Given the description of an element on the screen output the (x, y) to click on. 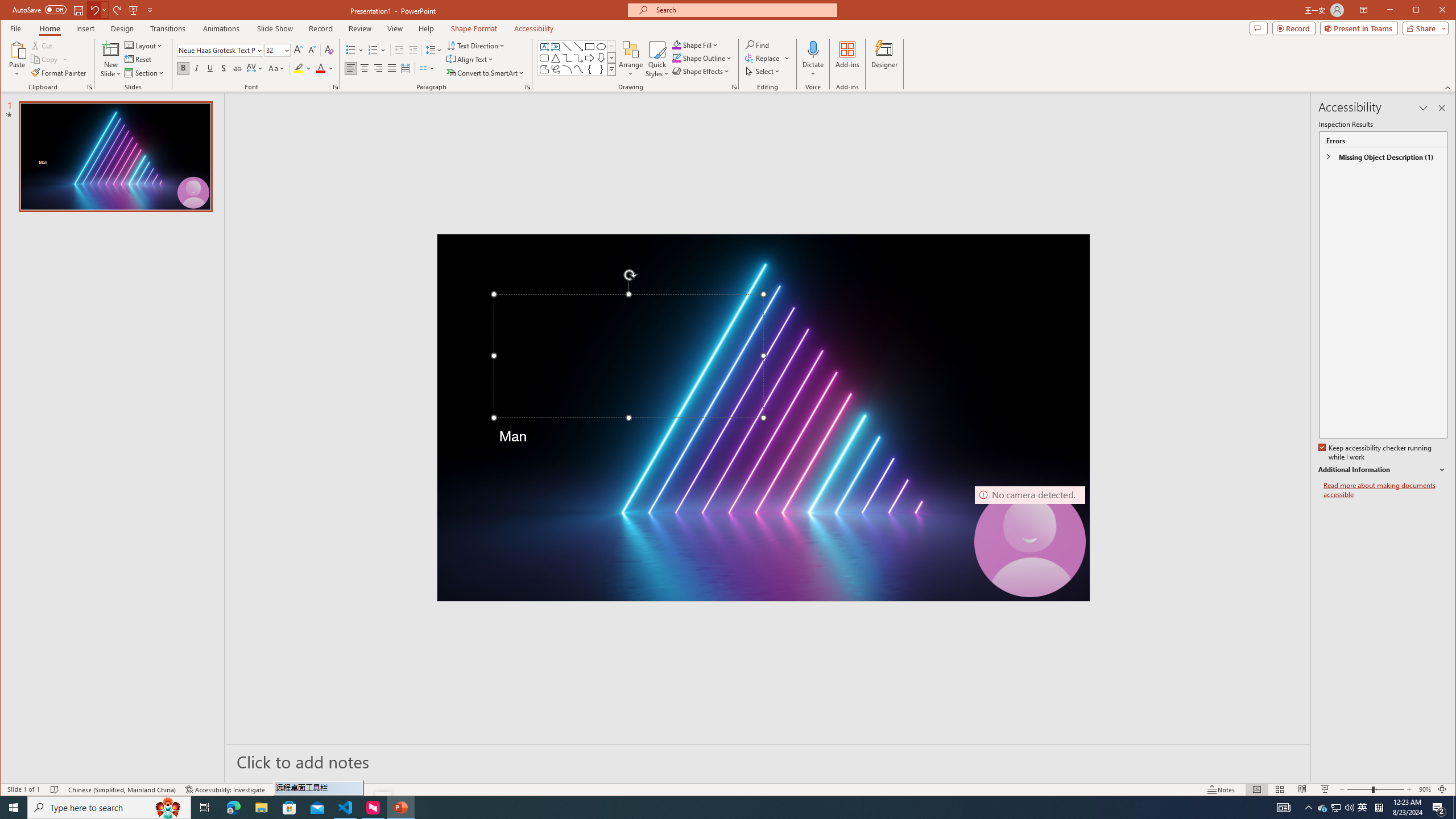
Show desktop (1454, 807)
AutomationID: ShapesInsertGallery (577, 57)
Bullets (355, 49)
Font Size (277, 49)
Justify (391, 68)
Text Highlight Color Yellow (298, 68)
Row Down (611, 57)
Microsoft Store (289, 807)
